Given the description of an element on the screen output the (x, y) to click on. 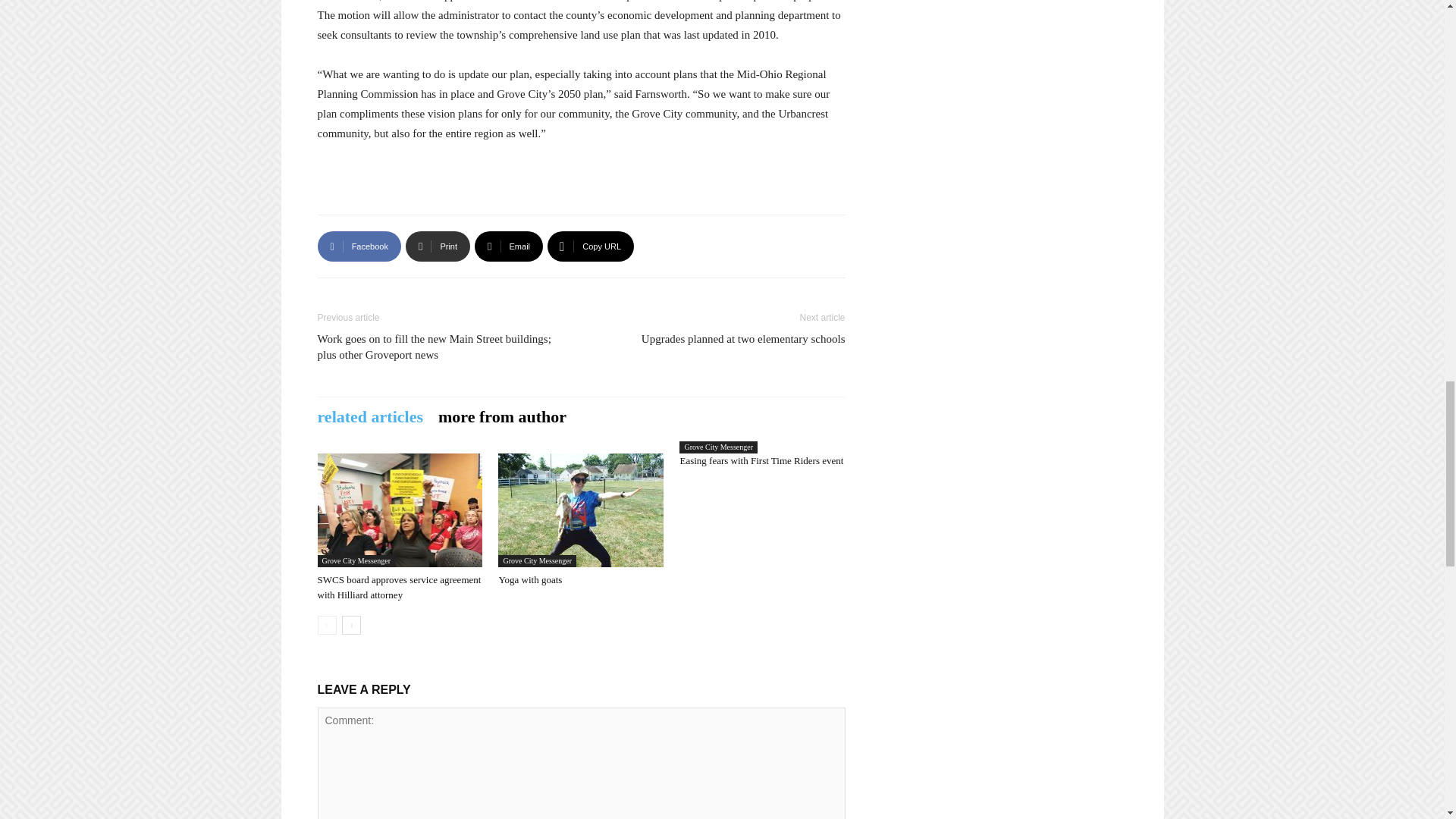
Facebook (358, 245)
SWCS board approves service agreement with Hilliard attorney (399, 510)
Print (438, 245)
Email (508, 245)
Copy URL (590, 245)
Yoga with goats (580, 510)
SWCS board approves service agreement with Hilliard attorney (398, 587)
